Given the description of an element on the screen output the (x, y) to click on. 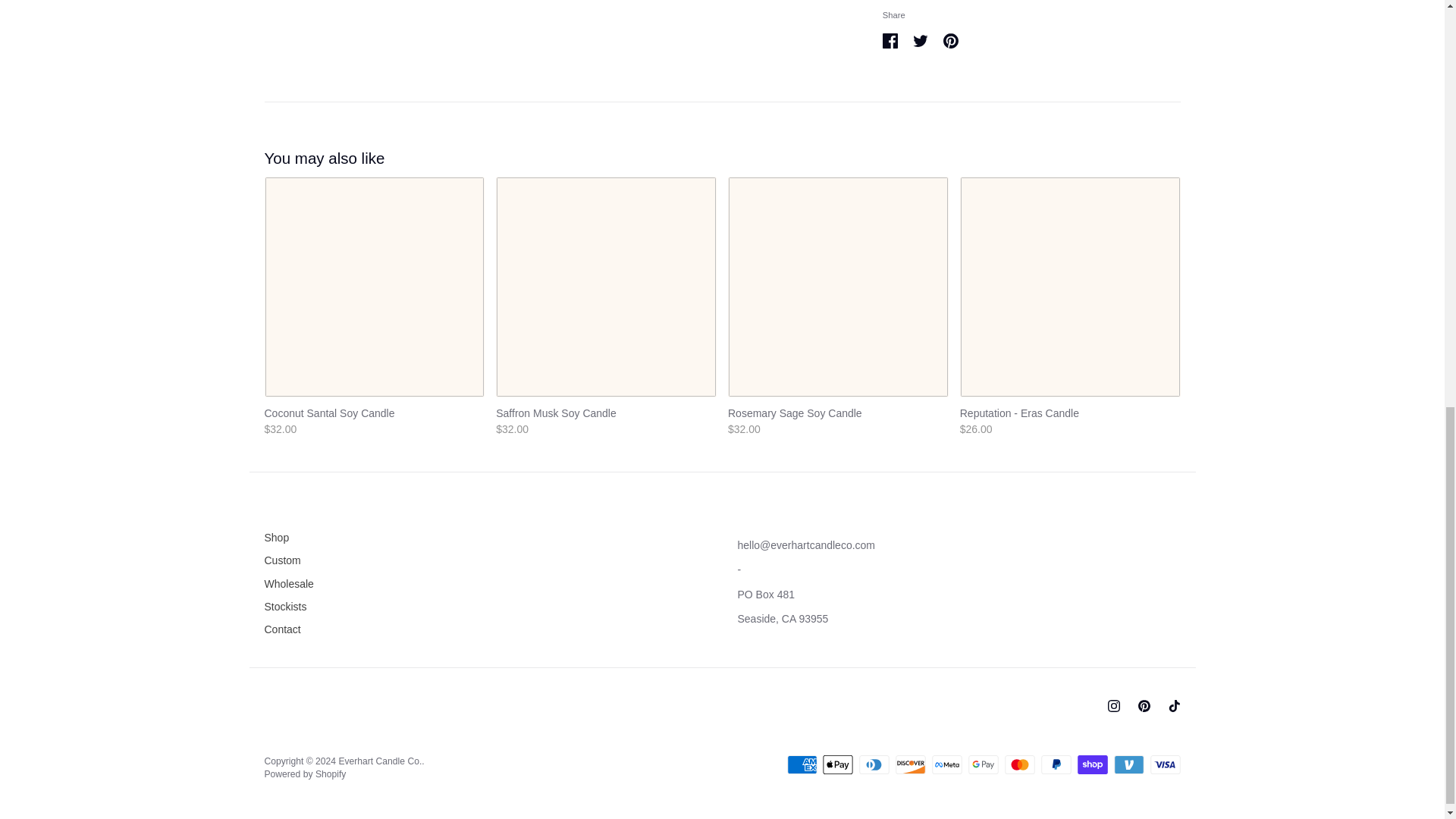
Discover (910, 764)
Shop Pay (1092, 764)
Mastercard (1019, 764)
American Express (801, 764)
PayPal (1056, 764)
Meta Pay (946, 764)
Diners Club (874, 764)
Google Pay (983, 764)
Apple Pay (837, 764)
